Given the description of an element on the screen output the (x, y) to click on. 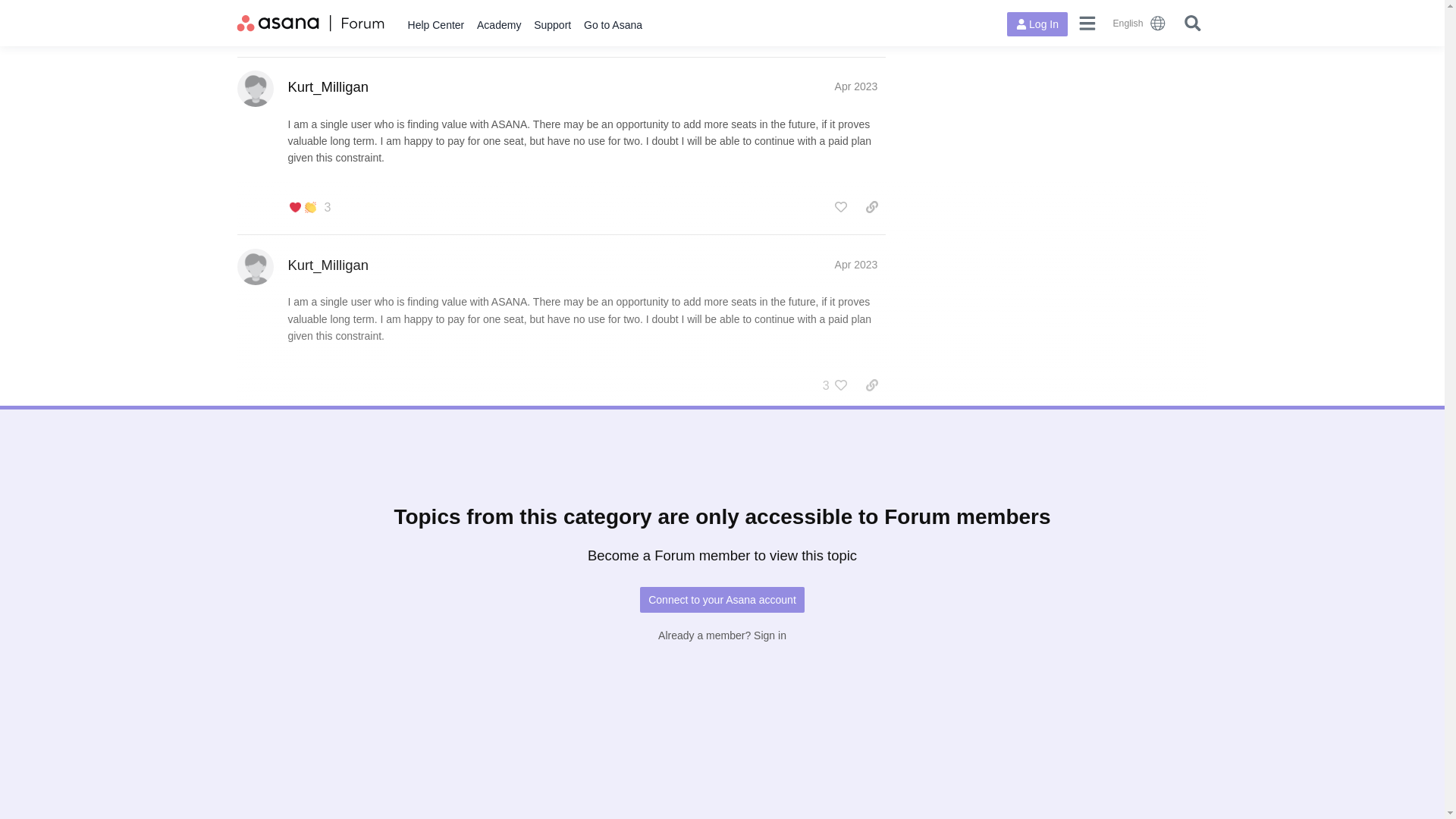
Go to Asana (613, 25)
Why I need to buy almost 2 seat? (404, 749)
menu (1087, 22)
Go to Asana (613, 25)
Academy (498, 25)
international forums (1139, 22)
Help Center (435, 25)
Search (1192, 22)
Post date (855, 264)
Forum Leaders tips (812, 562)
Asana Academy (498, 25)
Team Onboarding (528, 751)
copy a link to this post to clipboard (872, 206)
Apr 2023 (855, 264)
